Given the description of an element on the screen output the (x, y) to click on. 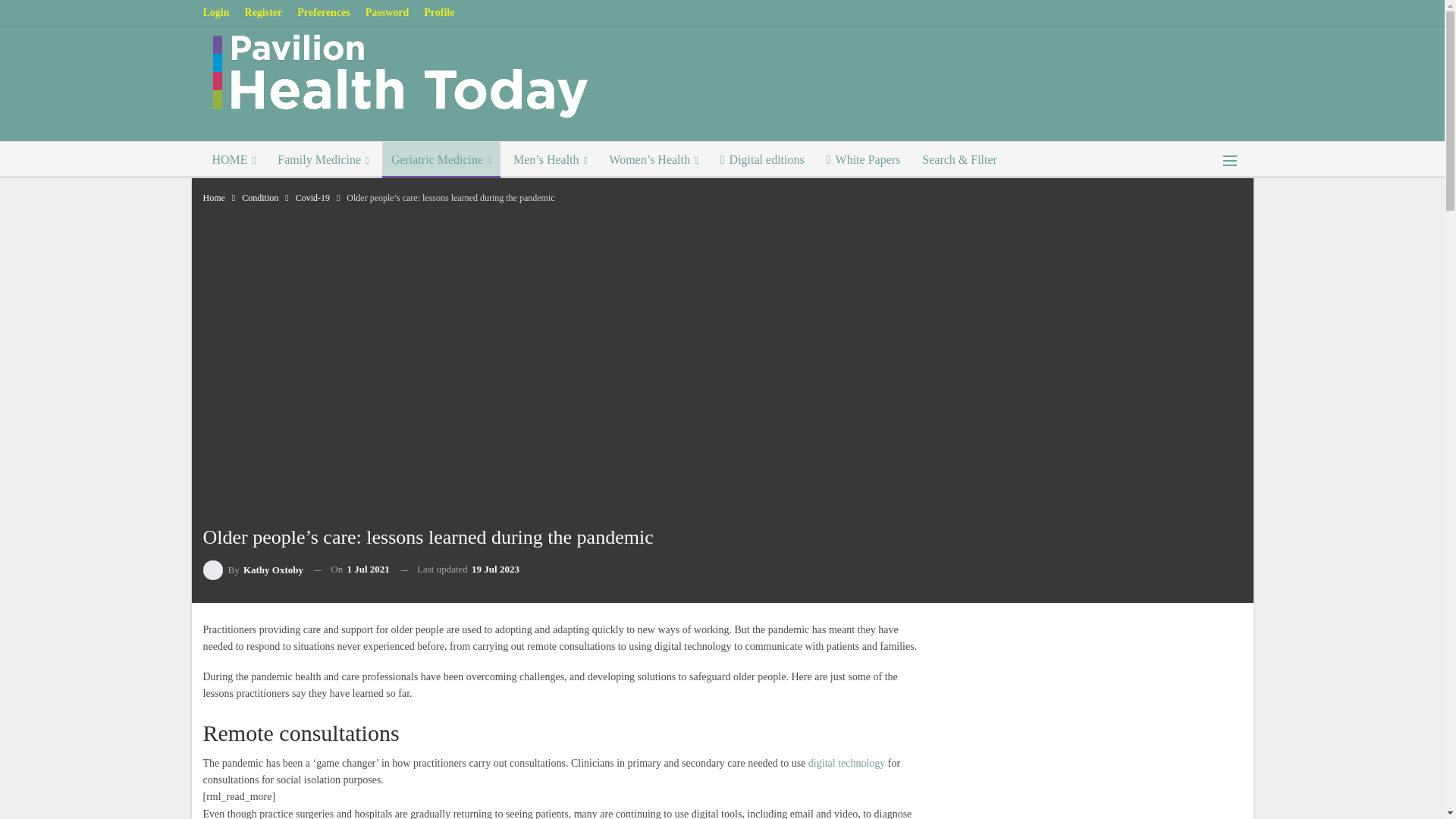
Family Medicine (322, 159)
Password (387, 12)
Digital consultations (846, 763)
Preferences (323, 12)
Register (263, 12)
Browse author articles (253, 569)
Profile (438, 12)
Geriatric Medicine (440, 159)
Login (216, 12)
HOME (233, 159)
